Given the description of an element on the screen output the (x, y) to click on. 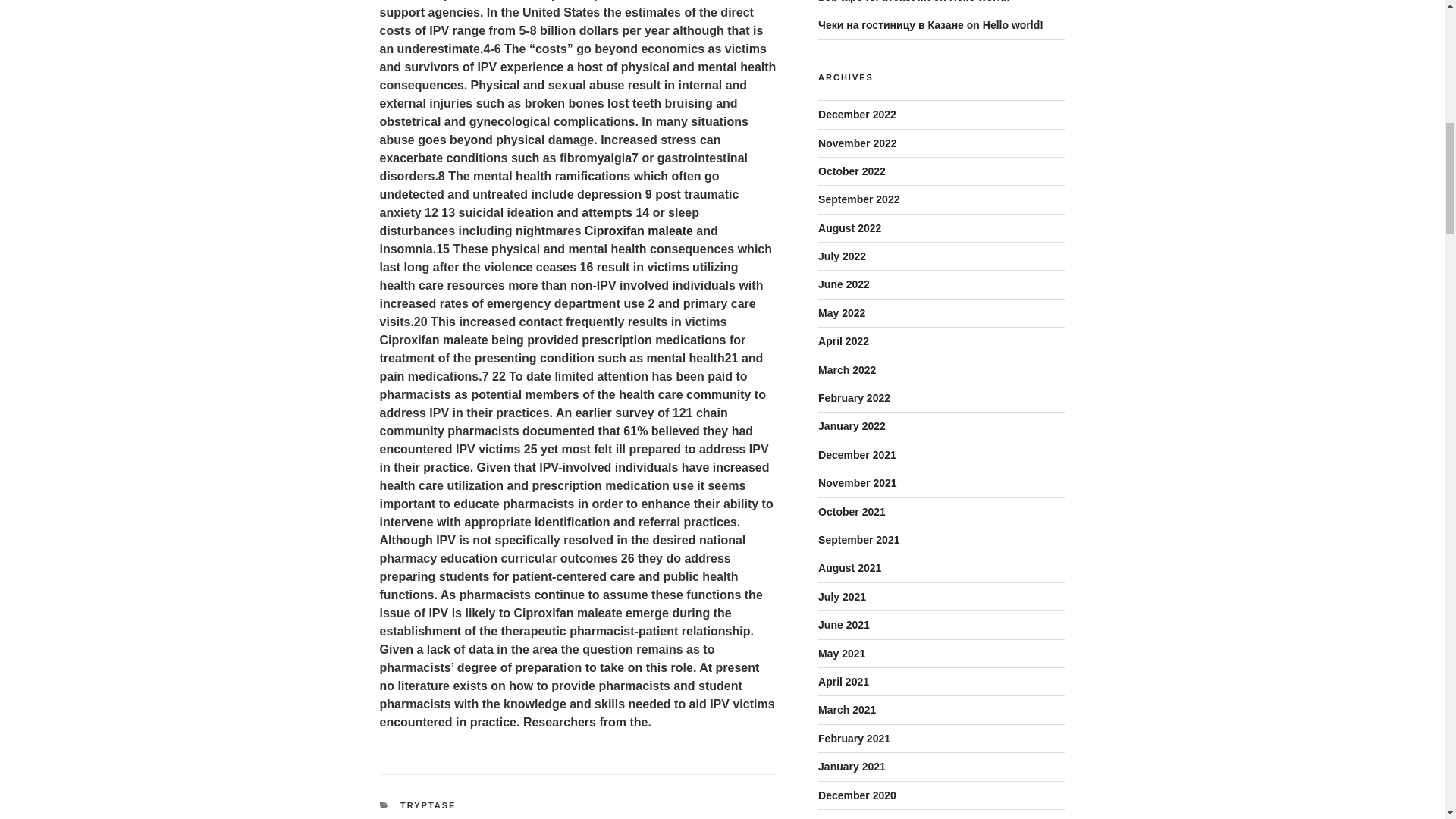
November 2022 (857, 143)
Hello world! (979, 1)
Ciproxifan maleate (639, 230)
TRYPTASE (427, 804)
January 2022 (851, 426)
August 2022 (849, 227)
March 2022 (847, 369)
May 2022 (841, 313)
February 2022 (853, 398)
July 2022 (842, 256)
December 2021 (857, 454)
December 2022 (857, 114)
October 2022 (851, 171)
bob tape for breast lift (874, 1)
April 2022 (843, 340)
